Given the description of an element on the screen output the (x, y) to click on. 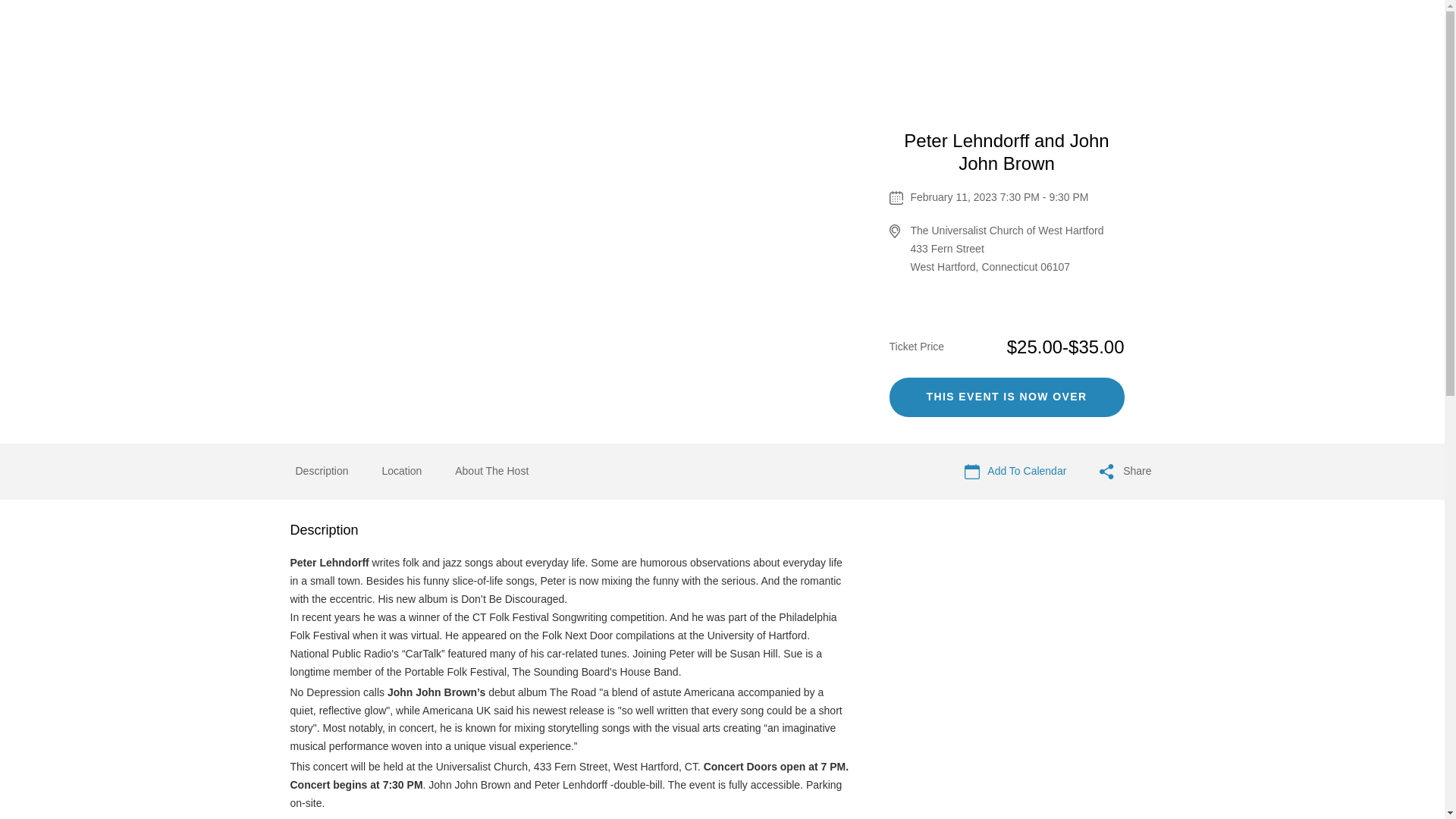
Description (322, 470)
About The Host (491, 471)
Description (322, 471)
Location (401, 471)
Add To Calendar (1014, 471)
Location (401, 470)
About The Host (491, 470)
Add To Calendar (1014, 471)
Share (1125, 471)
